Given the description of an element on the screen output the (x, y) to click on. 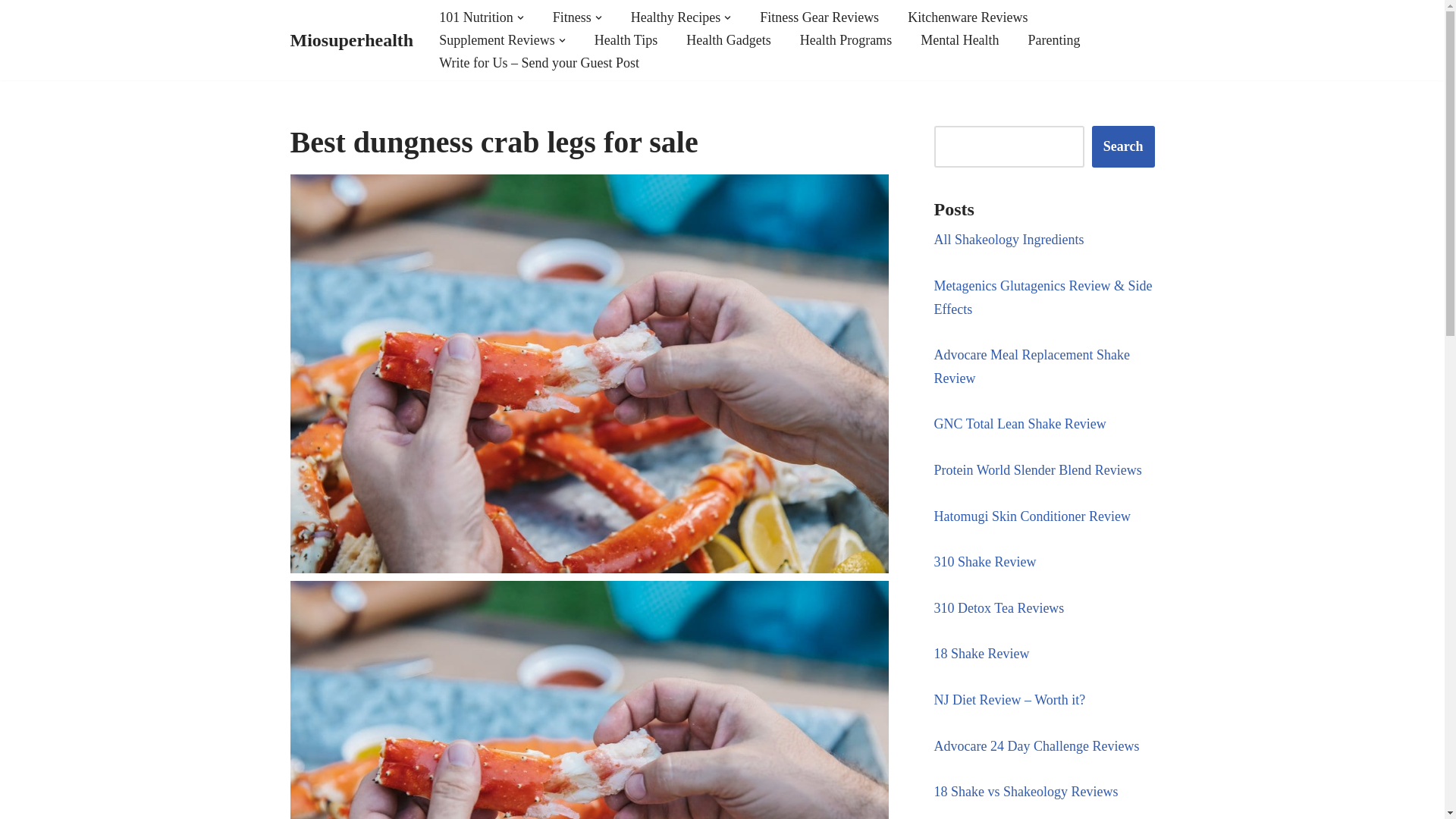
Supplement Reviews (496, 39)
Parenting (1053, 39)
Skip to content (11, 31)
Health Programs (845, 39)
101 Nutrition (476, 16)
Kitchenware Reviews (967, 16)
Health Gadgets (727, 39)
Healthy Recipes (675, 16)
Health Tips (626, 39)
Mental Health (959, 39)
Fitness Gear Reviews (819, 16)
Fitness (572, 16)
Miosuperhealth (351, 40)
